Given the description of an element on the screen output the (x, y) to click on. 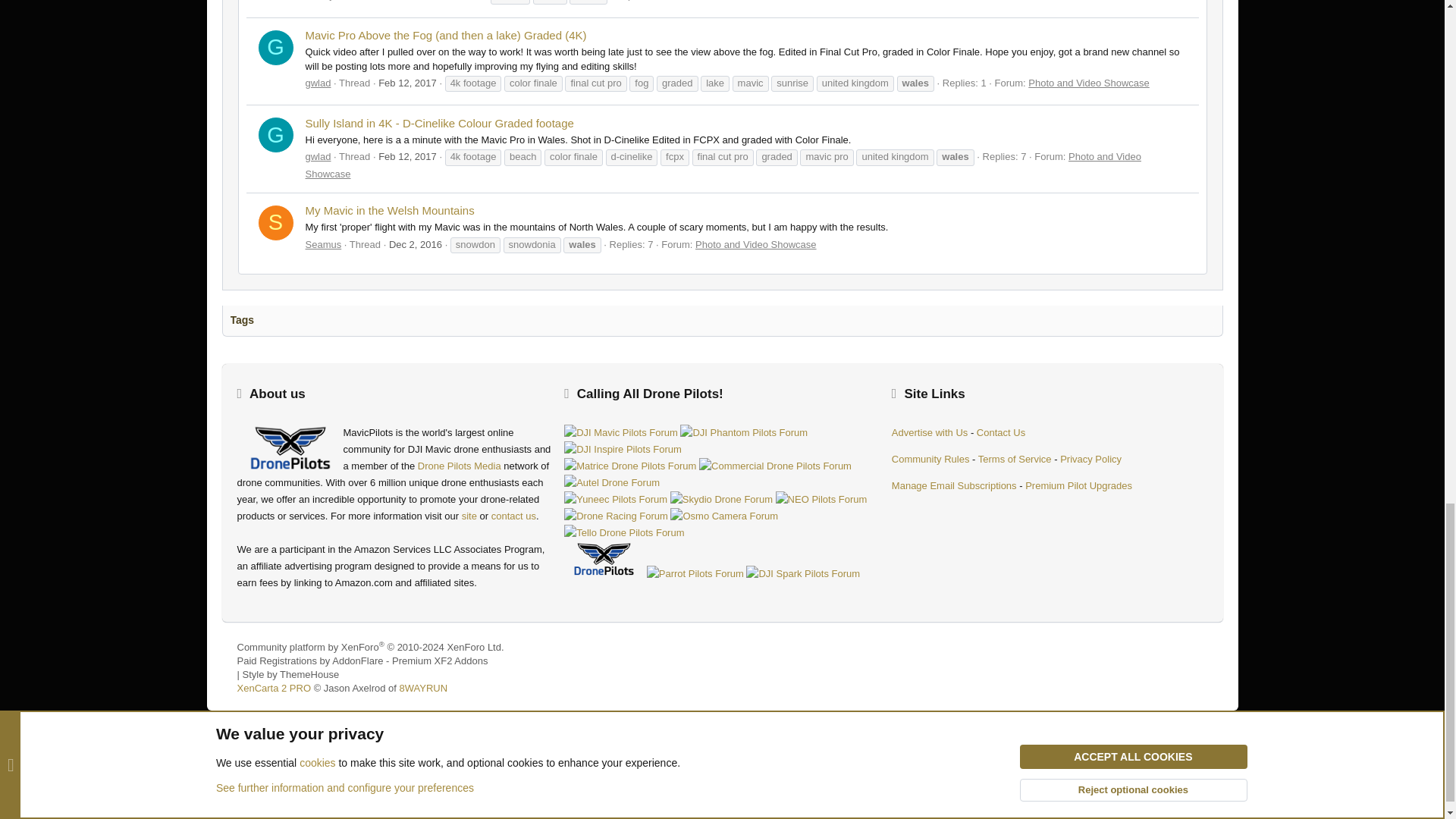
Feb 12, 2017 at 9:44 AM (407, 82)
DronePilotsMedia Logo (288, 448)
Feb 25, 2017 at 11:59 AM (452, 0)
Feb 12, 2017 at 8:23 AM (407, 156)
Dec 2, 2016 at 4:22 AM (415, 244)
